Given the description of an element on the screen output the (x, y) to click on. 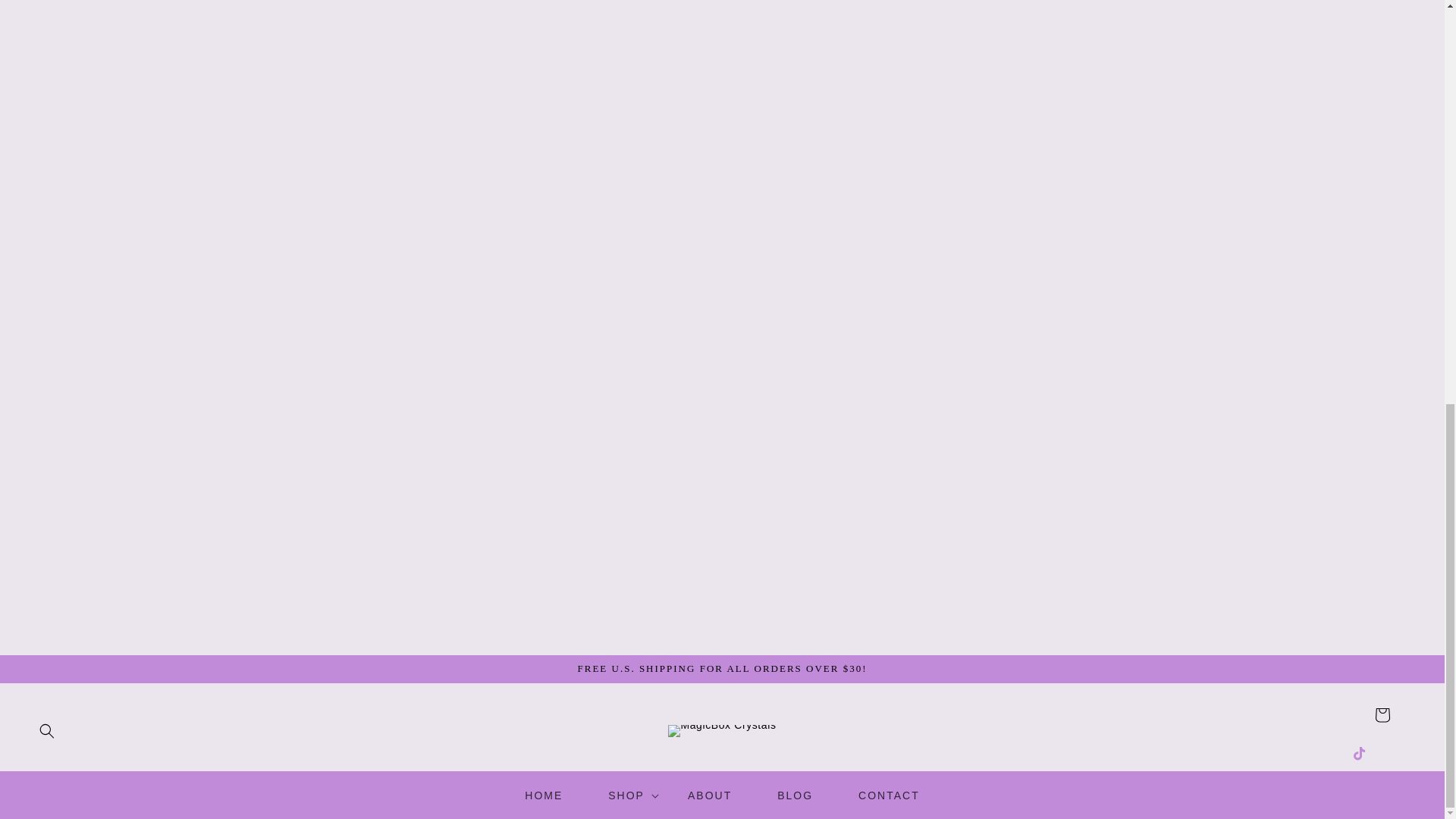
ABOUT (709, 794)
CONTACT (888, 794)
HOME (543, 794)
BLOG (794, 794)
Cart (1382, 715)
